Given the description of an element on the screen output the (x, y) to click on. 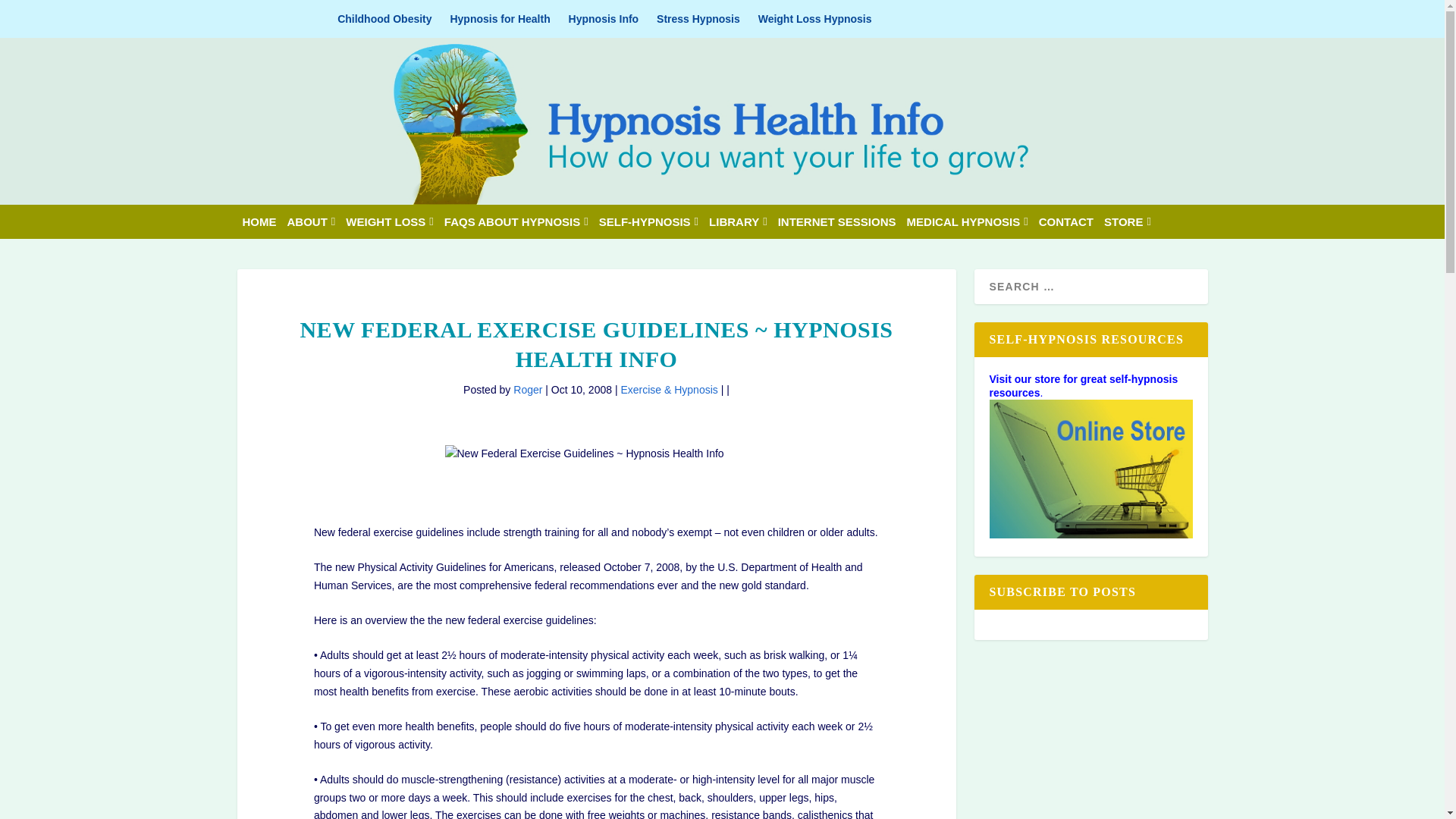
WEIGHT LOSS (389, 221)
Hypnosis Info (604, 18)
FAQS ABOUT HYPNOSIS (516, 221)
LIBRARY (738, 221)
HOME (259, 221)
Weight Loss Hypnosis (815, 18)
Childhood Obesity (383, 18)
ABOUT (310, 221)
MEDICAL HYPNOSIS (967, 221)
Posts by Roger (527, 389)
Hypnosis for Health (499, 18)
SELF-HYPNOSIS (648, 221)
INTERNET SESSIONS (836, 221)
Stress Hypnosis (697, 18)
